Given the description of an element on the screen output the (x, y) to click on. 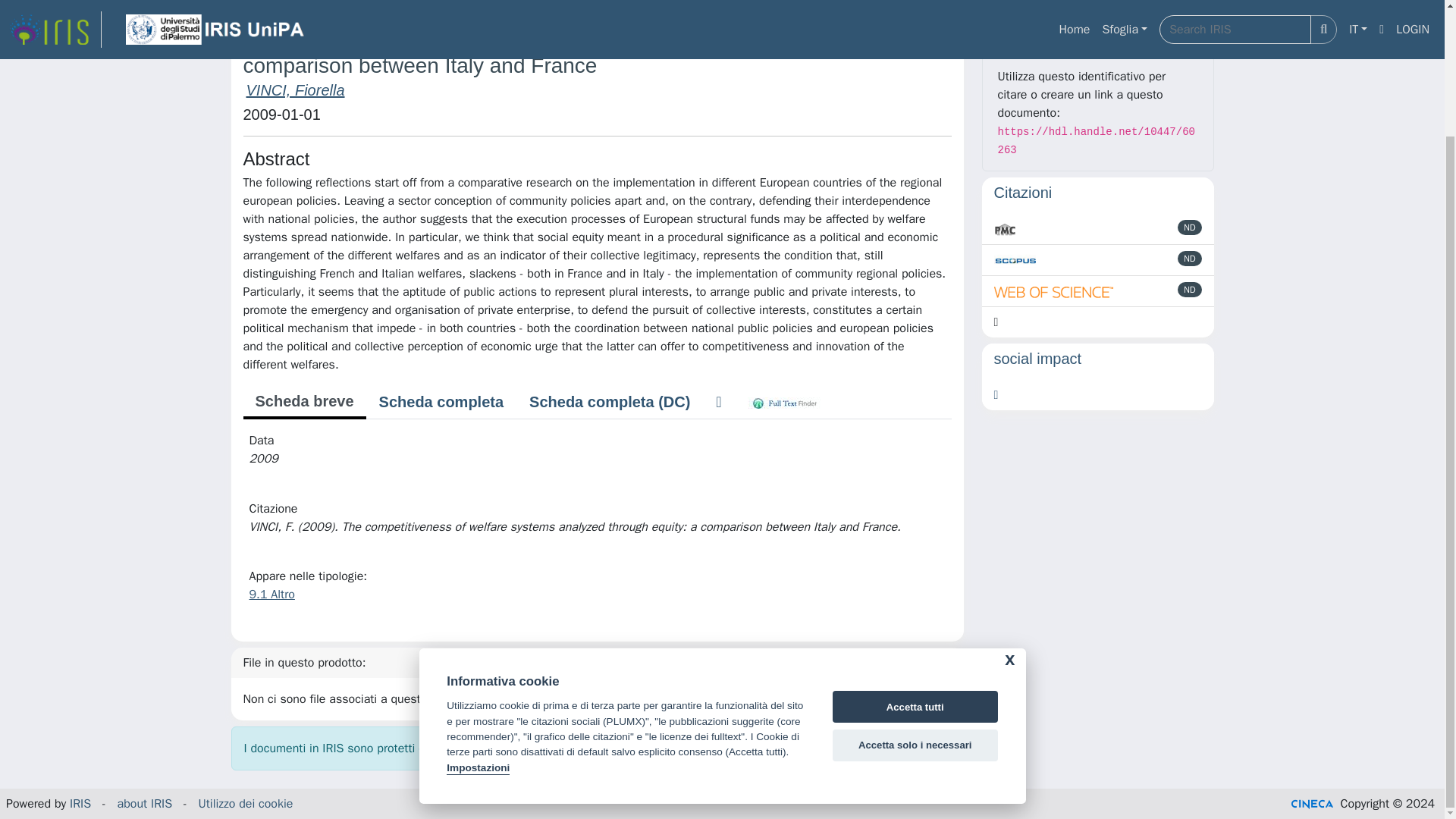
Prodotti della ricerca (325, 0)
9.1 Altro (488, 0)
Scheda breve (304, 402)
09 - Altro (421, 0)
IRIS (240, 0)
Scheda completa (441, 401)
VINCI, Fiorella (294, 89)
9.1 Altro (271, 594)
 Informazioni (1097, 35)
